Given the description of an element on the screen output the (x, y) to click on. 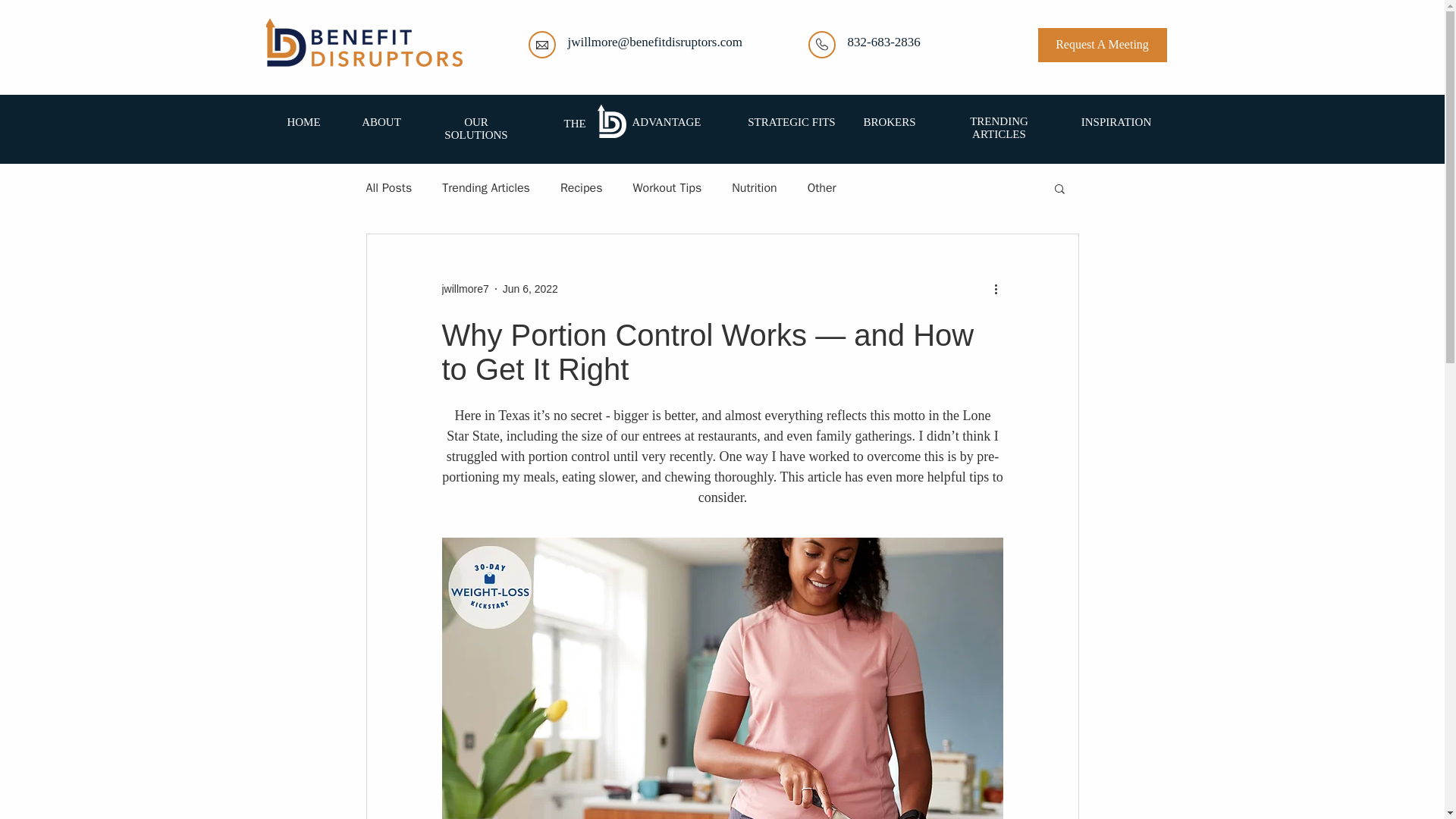
Other (821, 188)
Jun 6, 2022 (529, 287)
Workout Tips (666, 188)
jwillmore7 (464, 288)
BROKERS (889, 121)
832-683-2836 (883, 42)
STRATEGIC FITS (791, 121)
HOME (303, 121)
Trending Articles (485, 188)
jwillmore7 (464, 288)
All Posts (388, 188)
TRENDING ARTICLES (998, 127)
ABOUT (381, 121)
Recipes (581, 188)
Nutrition (754, 188)
